Given the description of an element on the screen output the (x, y) to click on. 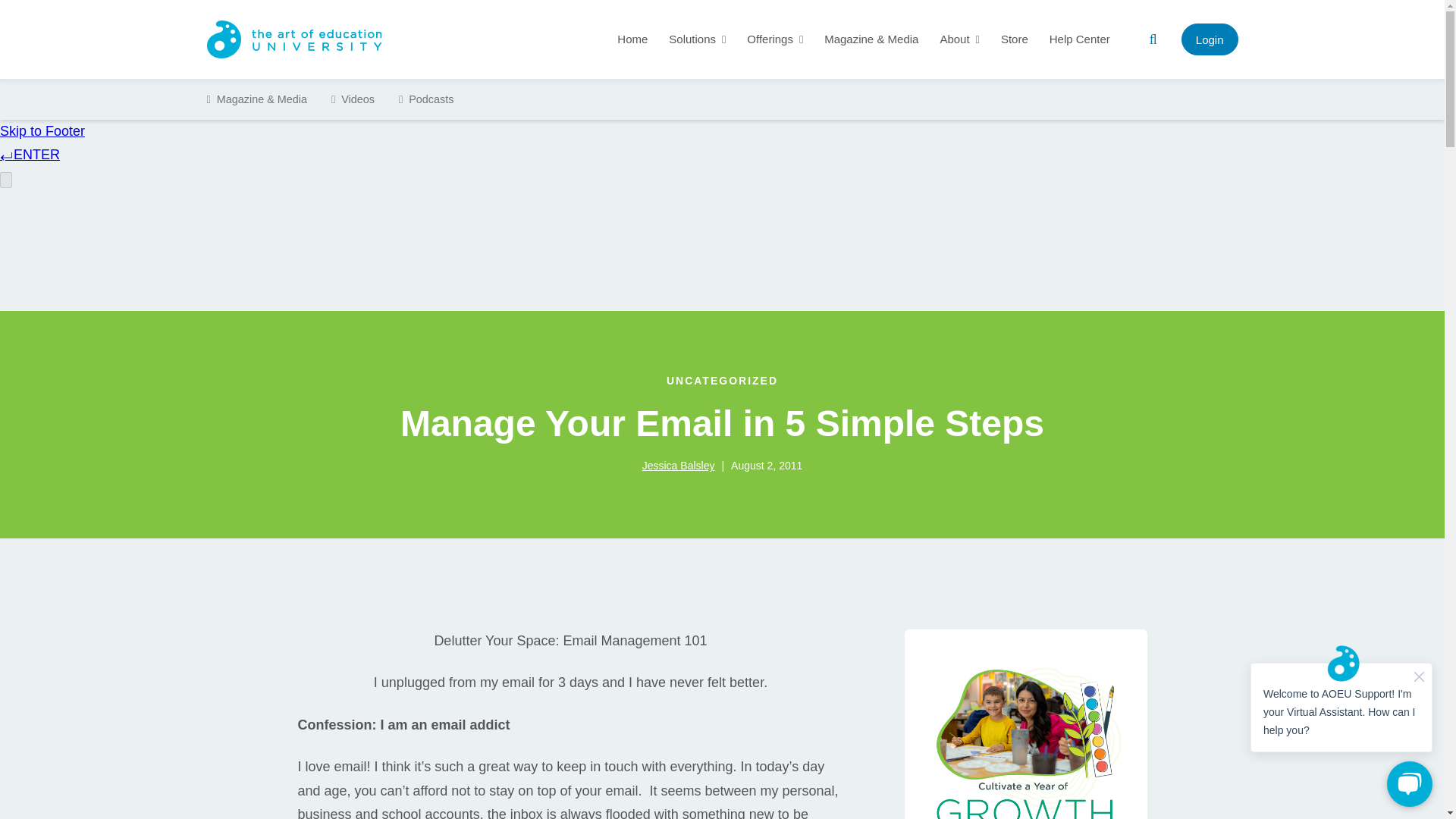
Posts by Jessica Balsley (678, 465)
